Given the description of an element on the screen output the (x, y) to click on. 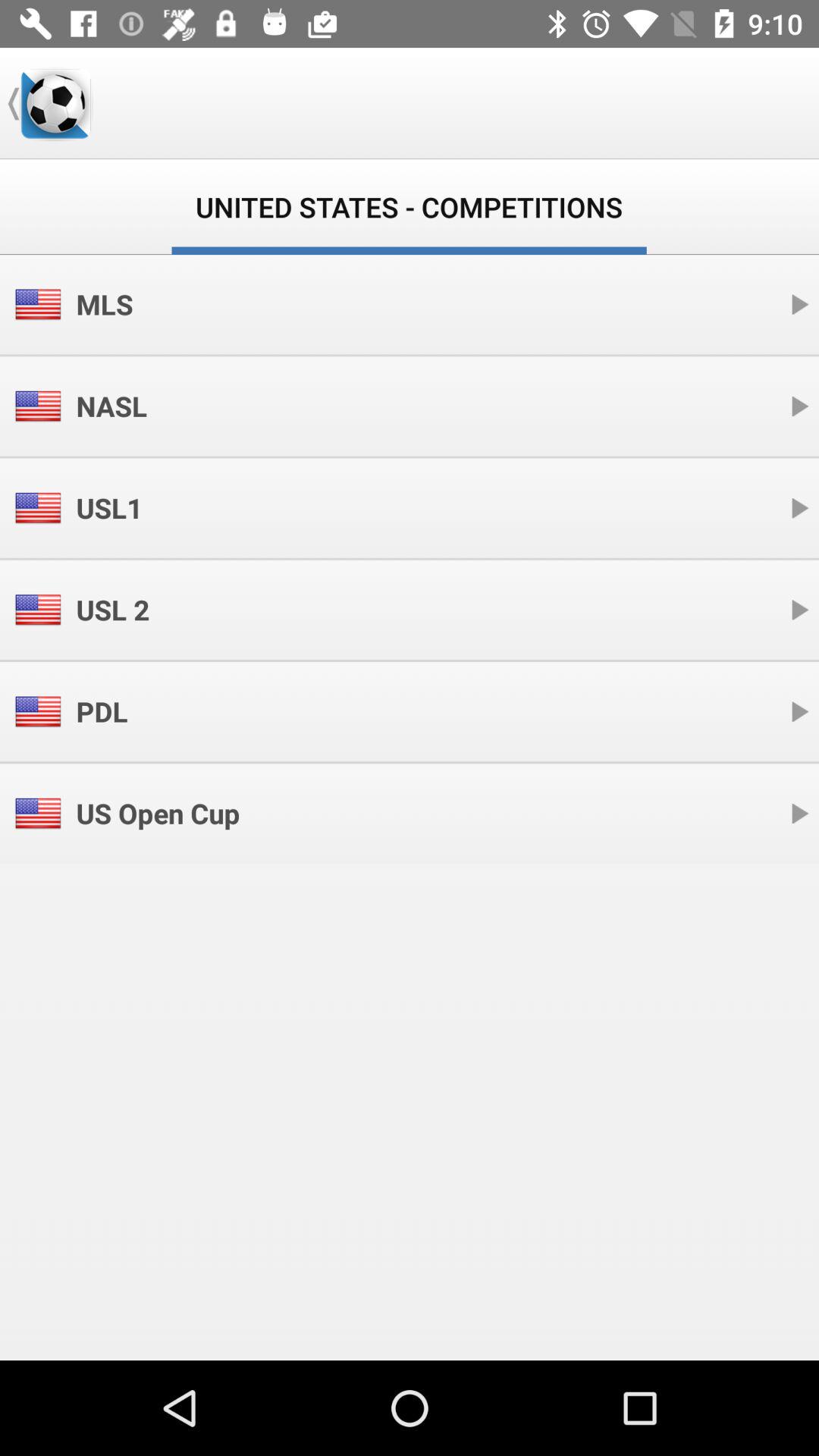
open the icon above usl 2 icon (109, 507)
